Given the description of an element on the screen output the (x, y) to click on. 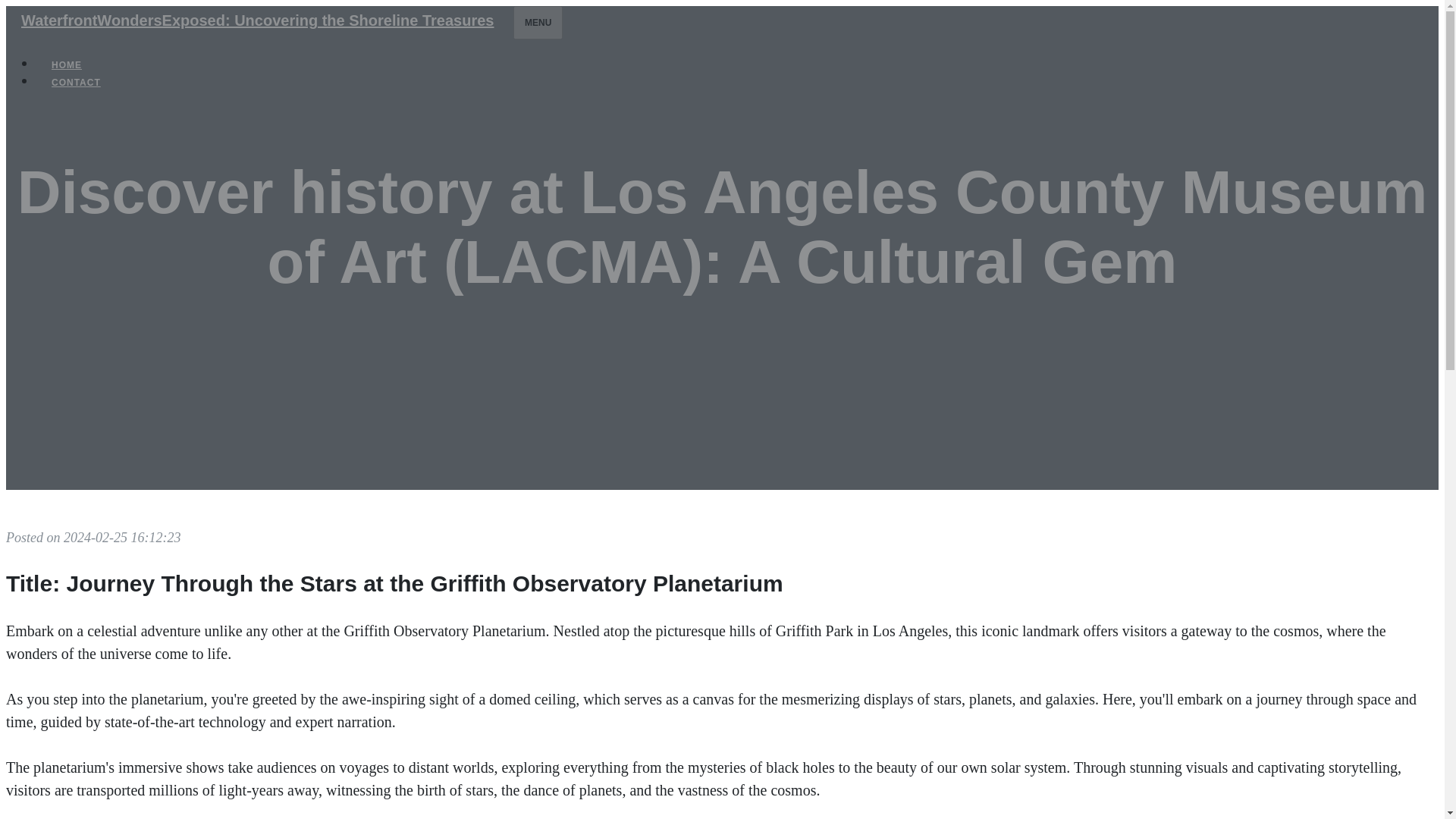
CONTACT (76, 82)
MENU (537, 22)
HOME (66, 64)
WaterfrontWondersExposed: Uncovering the Shoreline Treasures (256, 20)
